Given the description of an element on the screen output the (x, y) to click on. 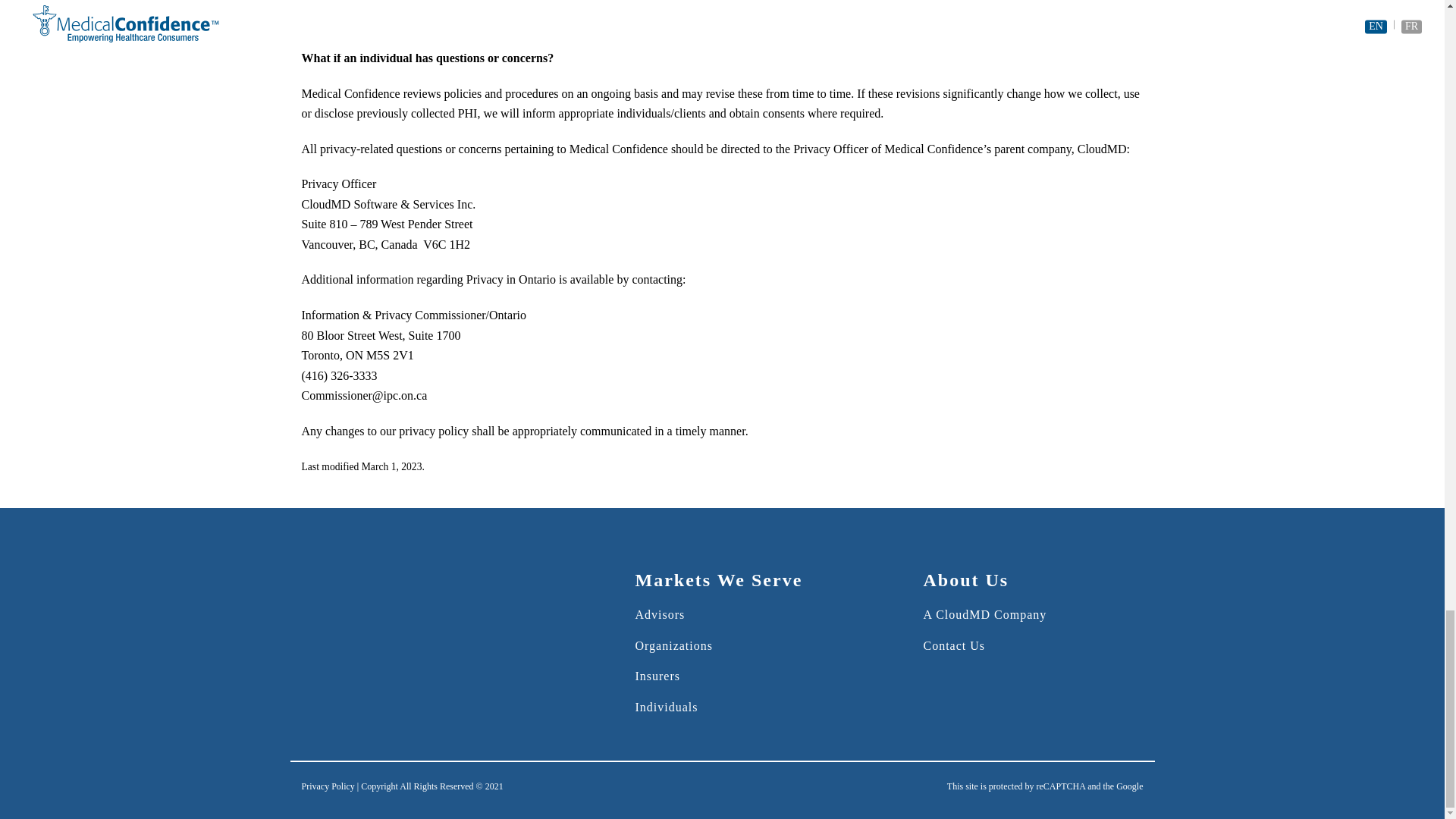
Contact Us (954, 645)
Privacy Policy (328, 786)
Organizations (672, 645)
Markets We Serve (718, 580)
Insurers (656, 675)
Advisors (659, 614)
Individuals (665, 707)
A CloudMD Company (984, 614)
About Us (966, 580)
